Given the description of an element on the screen output the (x, y) to click on. 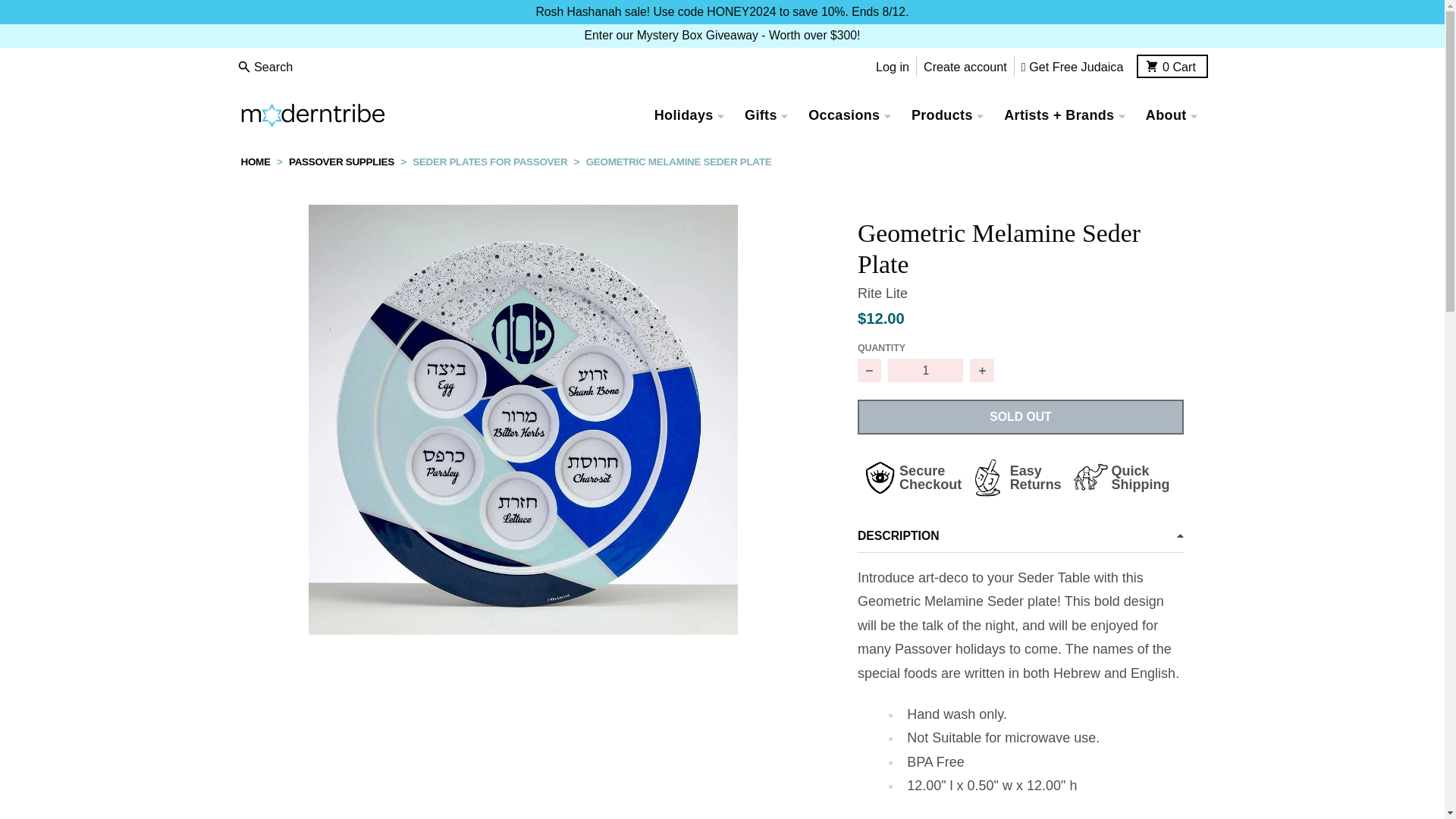
Search (1172, 65)
1 (266, 66)
Create account (925, 370)
Log in (964, 66)
